Given the description of an element on the screen output the (x, y) to click on. 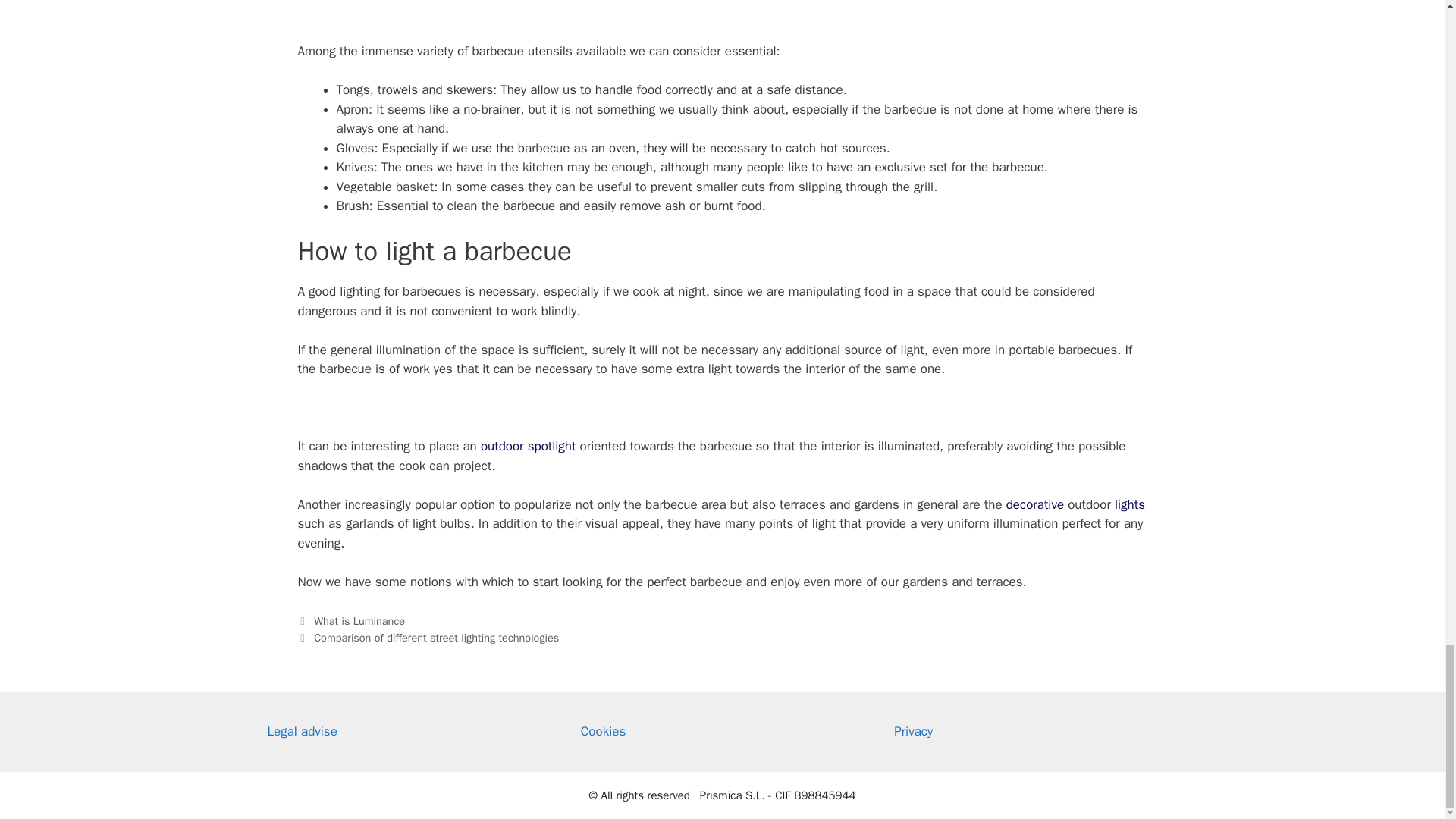
outdoor spotlight (528, 446)
Privacy (913, 731)
Comparison of different street lighting technologies (436, 637)
Legal advise (301, 731)
What is Luminance (359, 621)
decorative (1035, 504)
Cookies (603, 731)
lights (1129, 504)
Legal advise (301, 731)
